Given the description of an element on the screen output the (x, y) to click on. 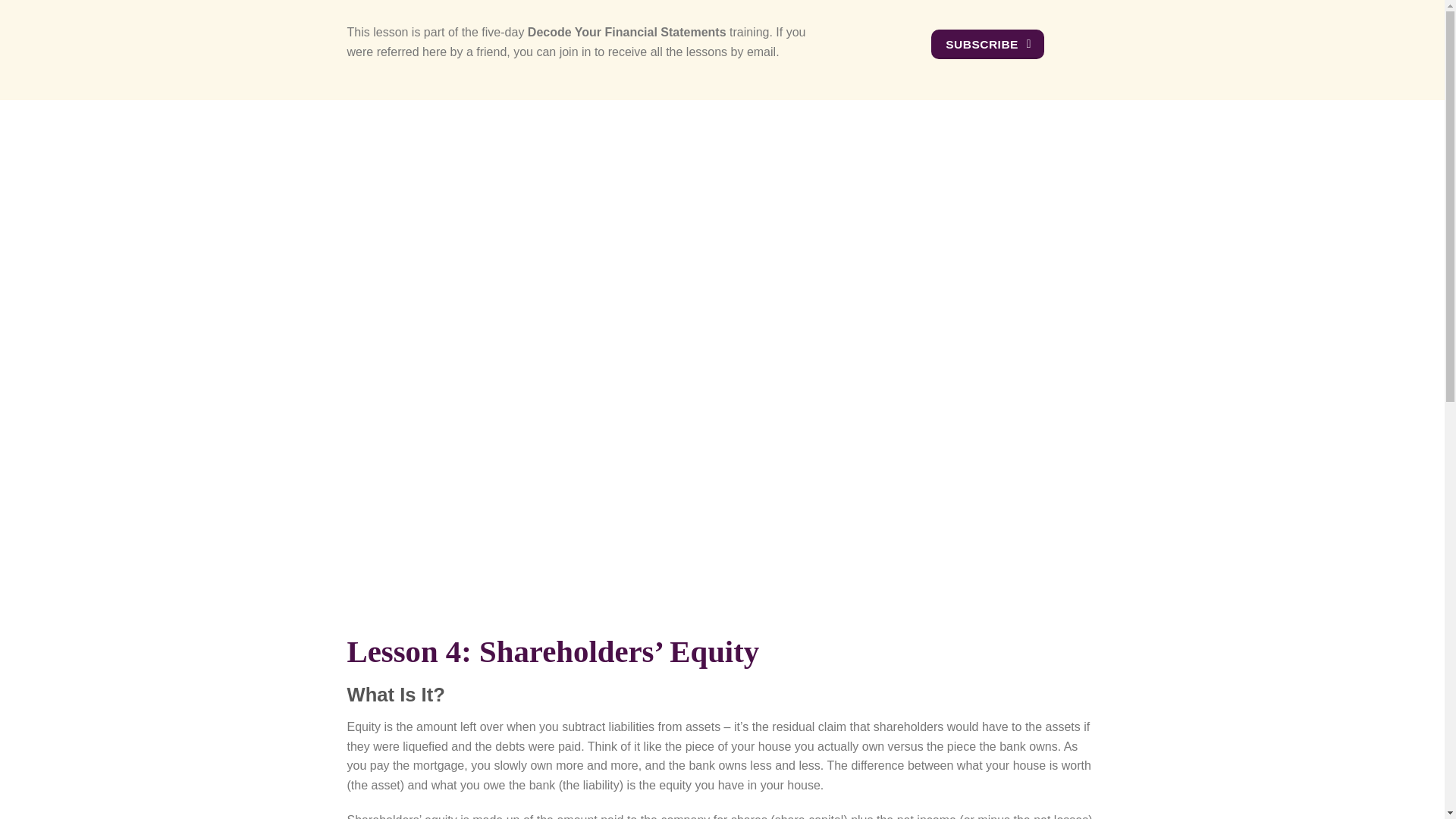
SUBSCRIBE (988, 43)
